Given the description of an element on the screen output the (x, y) to click on. 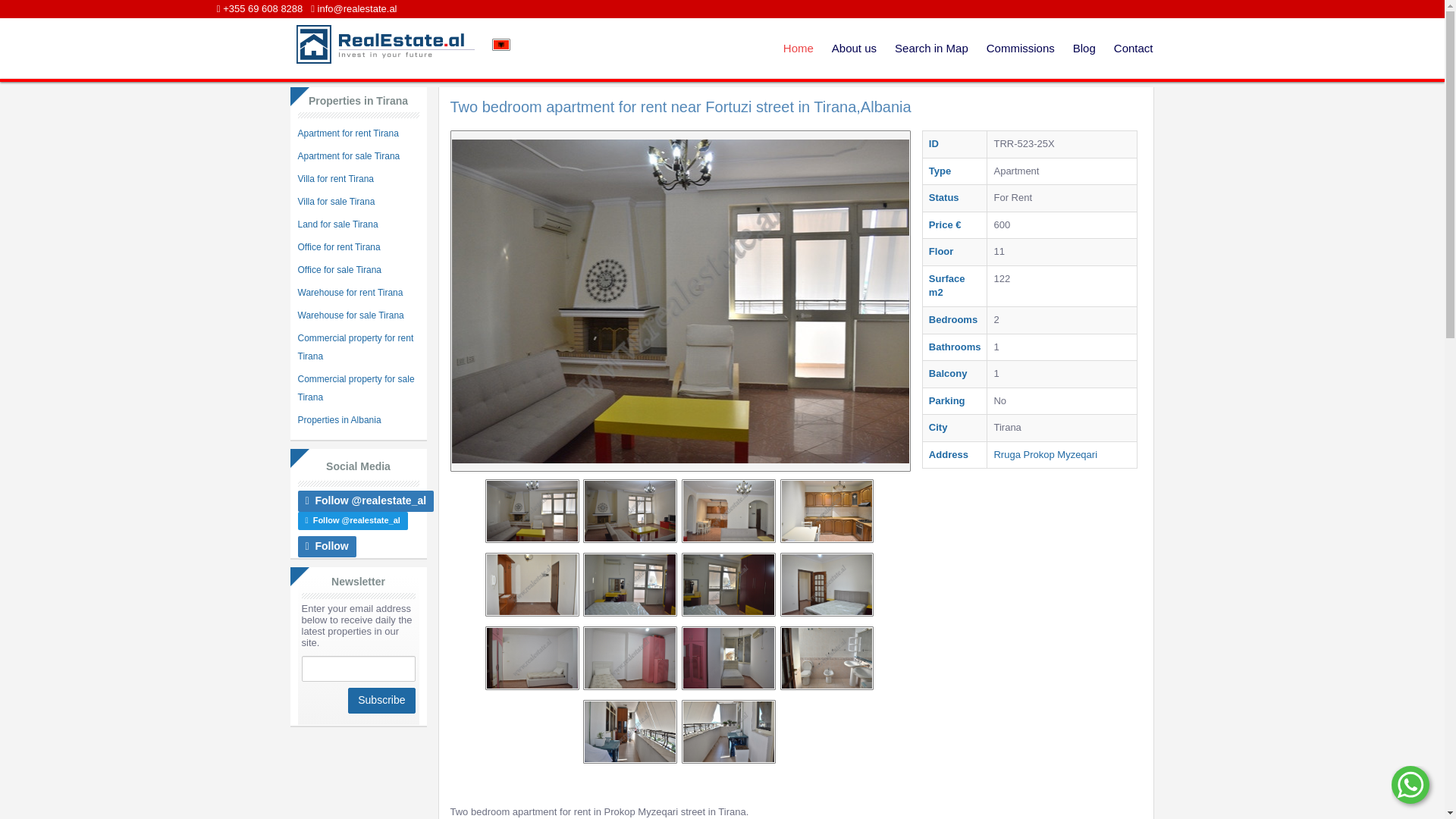
Image (630, 510)
Image (630, 658)
About us (853, 48)
Image (826, 510)
Commissions (1020, 48)
Image (728, 658)
Image (532, 584)
Image (532, 658)
Rruga Prokop Myzeqari (1044, 454)
Image (532, 510)
Search in Map (930, 48)
Image (728, 510)
Real Estate Albania Logo (383, 44)
Image (630, 584)
Subscribe (380, 700)
